Given the description of an element on the screen output the (x, y) to click on. 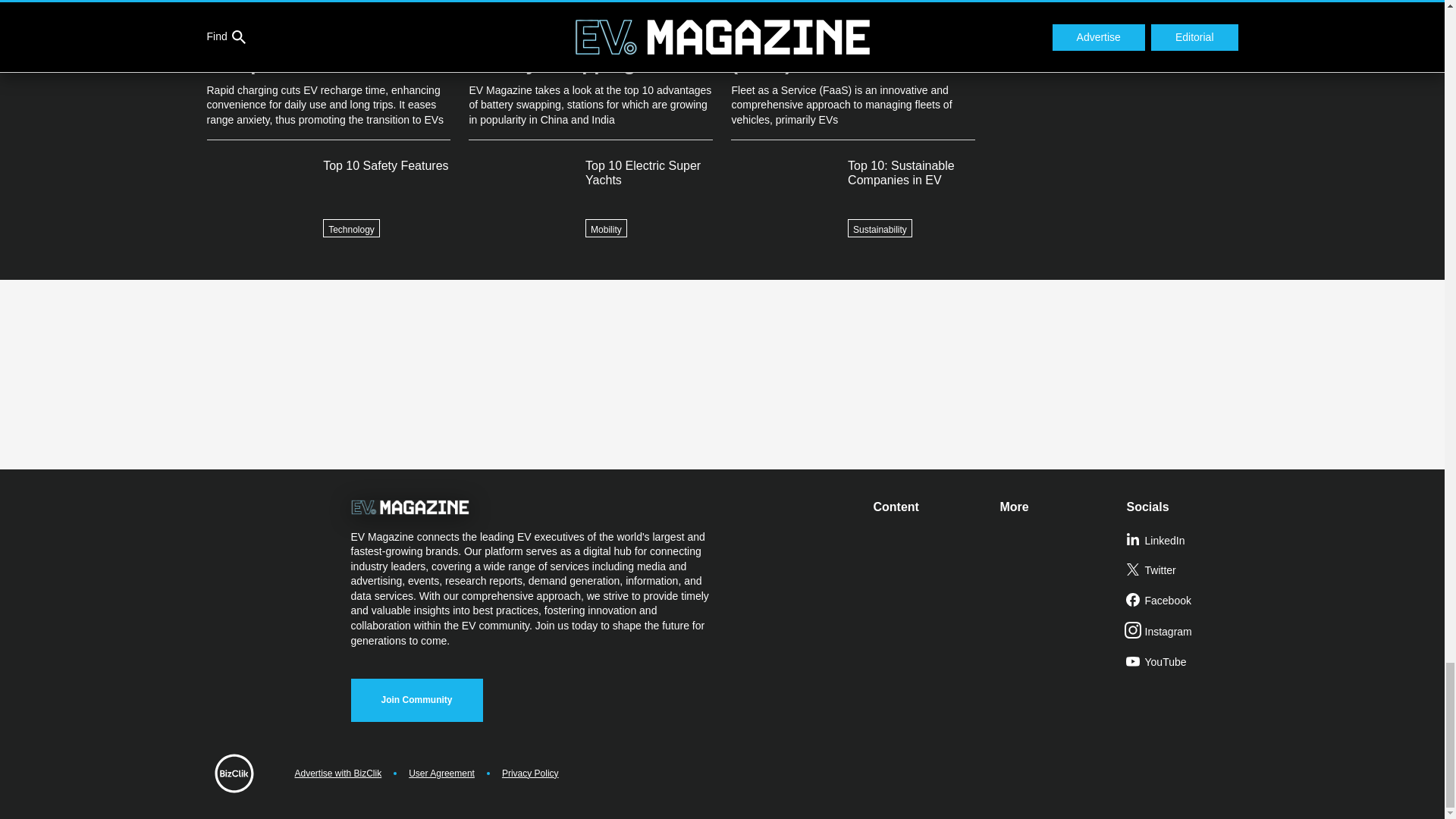
Top 10: Sustainability Awards in 2024 (1114, 19)
Top 10: Women in EV in MEA (1114, 54)
